Given the description of an element on the screen output the (x, y) to click on. 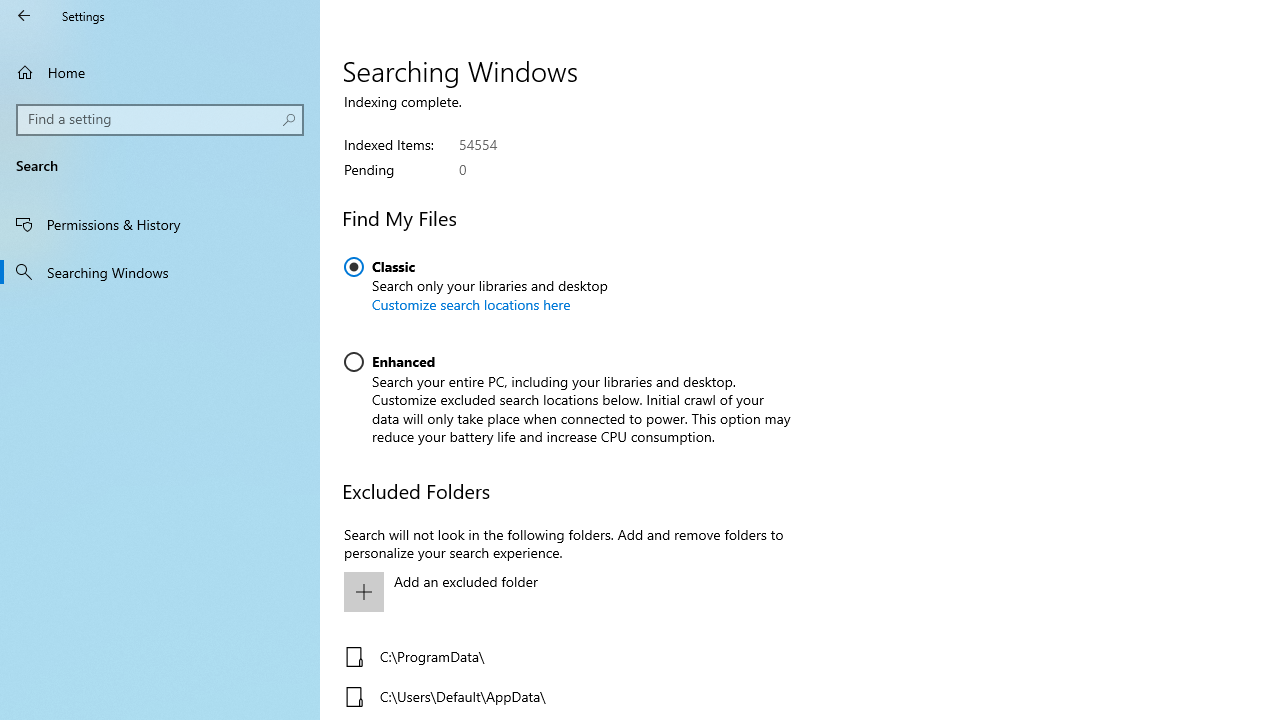
C:\ProgramData\ (563, 656)
Classic. Search only your libraries and desktop (476, 292)
Searching Windows (160, 271)
Permissions & History (160, 223)
Customize search locations here (471, 304)
Add an excluded folder (563, 592)
Search box, Find a setting (160, 119)
C:\Users\Default\AppData\ (563, 696)
